Given the description of an element on the screen output the (x, y) to click on. 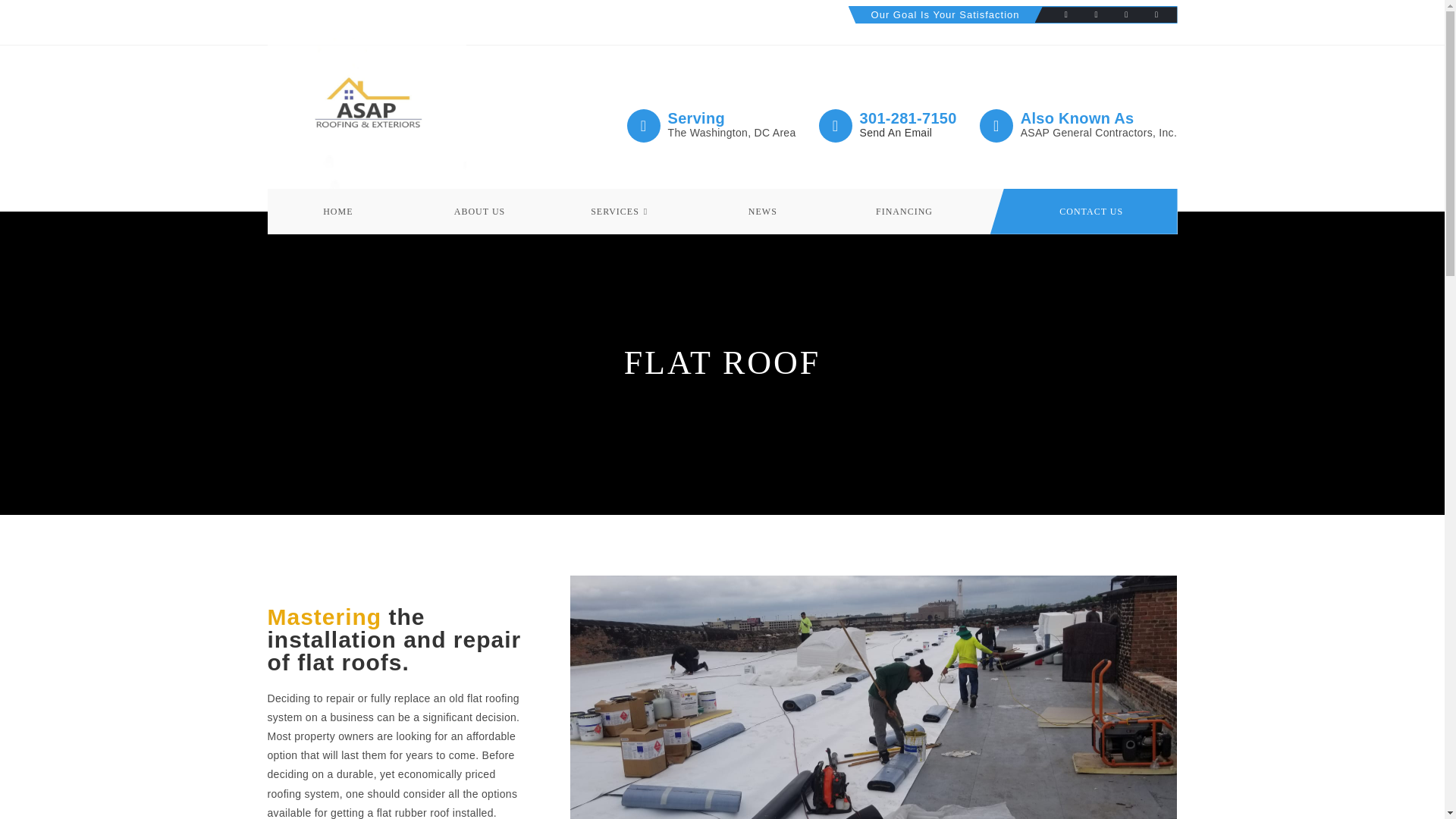
CONTACT US (1090, 211)
NEWS (763, 211)
SERVICES (621, 211)
HOME (337, 211)
ABOUT US (479, 211)
Send An Email (896, 132)
FINANCING (903, 211)
